Given the description of an element on the screen output the (x, y) to click on. 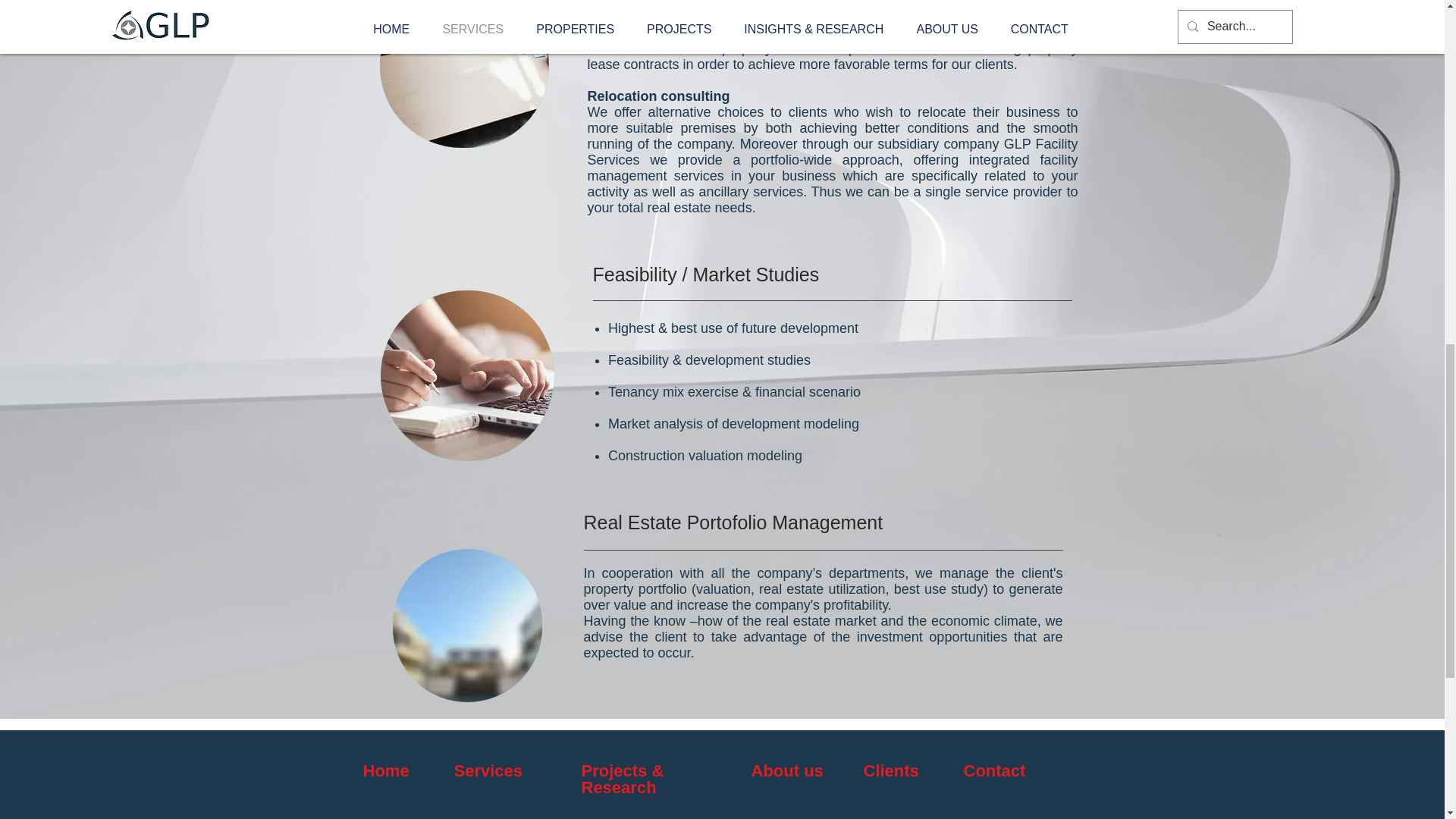
Home (385, 770)
Services (487, 770)
About us (786, 770)
Valuation (477, 818)
